Given the description of an element on the screen output the (x, y) to click on. 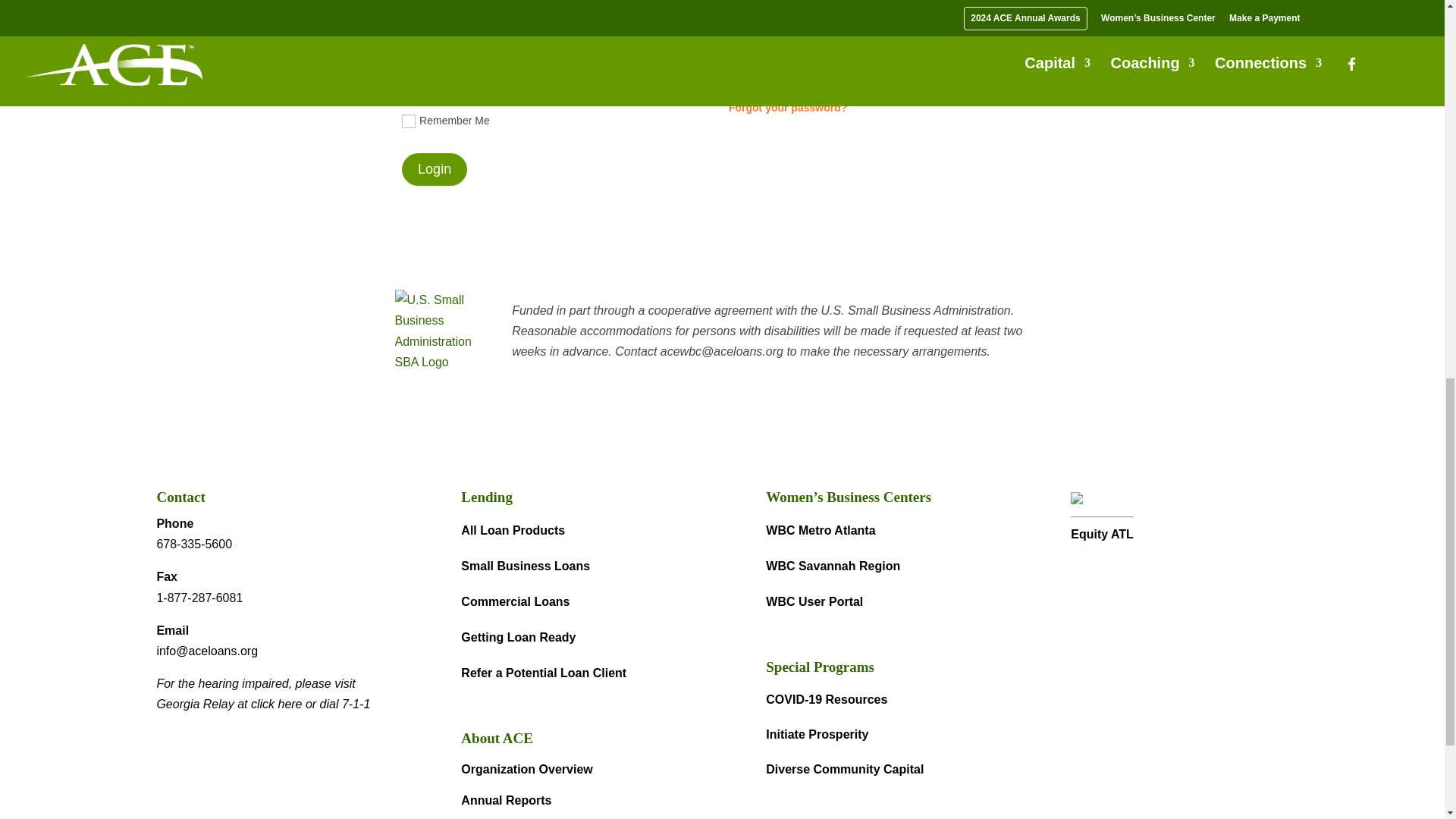
Login (434, 169)
forever (407, 120)
